Given the description of an element on the screen output the (x, y) to click on. 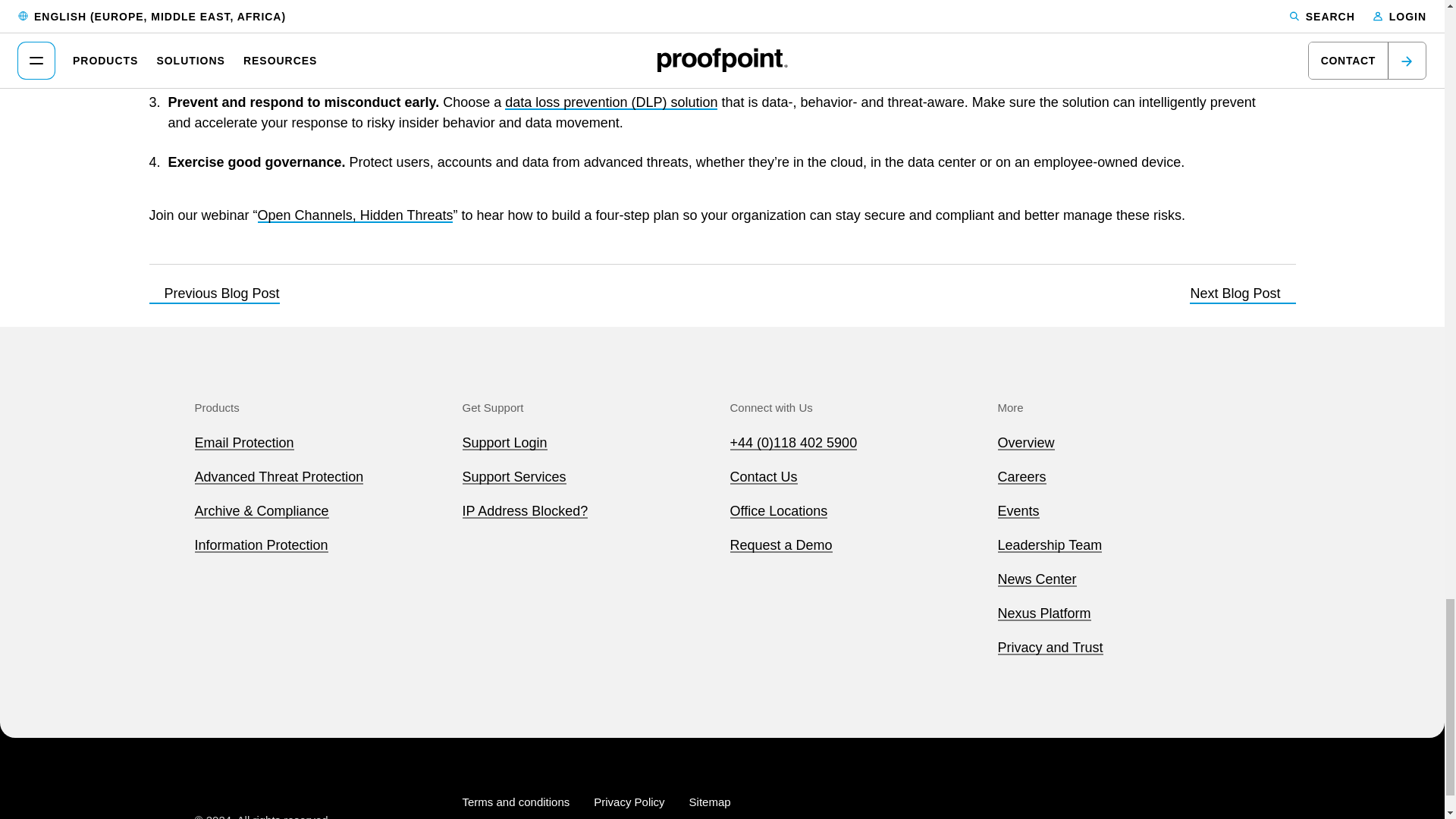
Open Channels, Hidden Threats (354, 215)
